Given the description of an element on the screen output the (x, y) to click on. 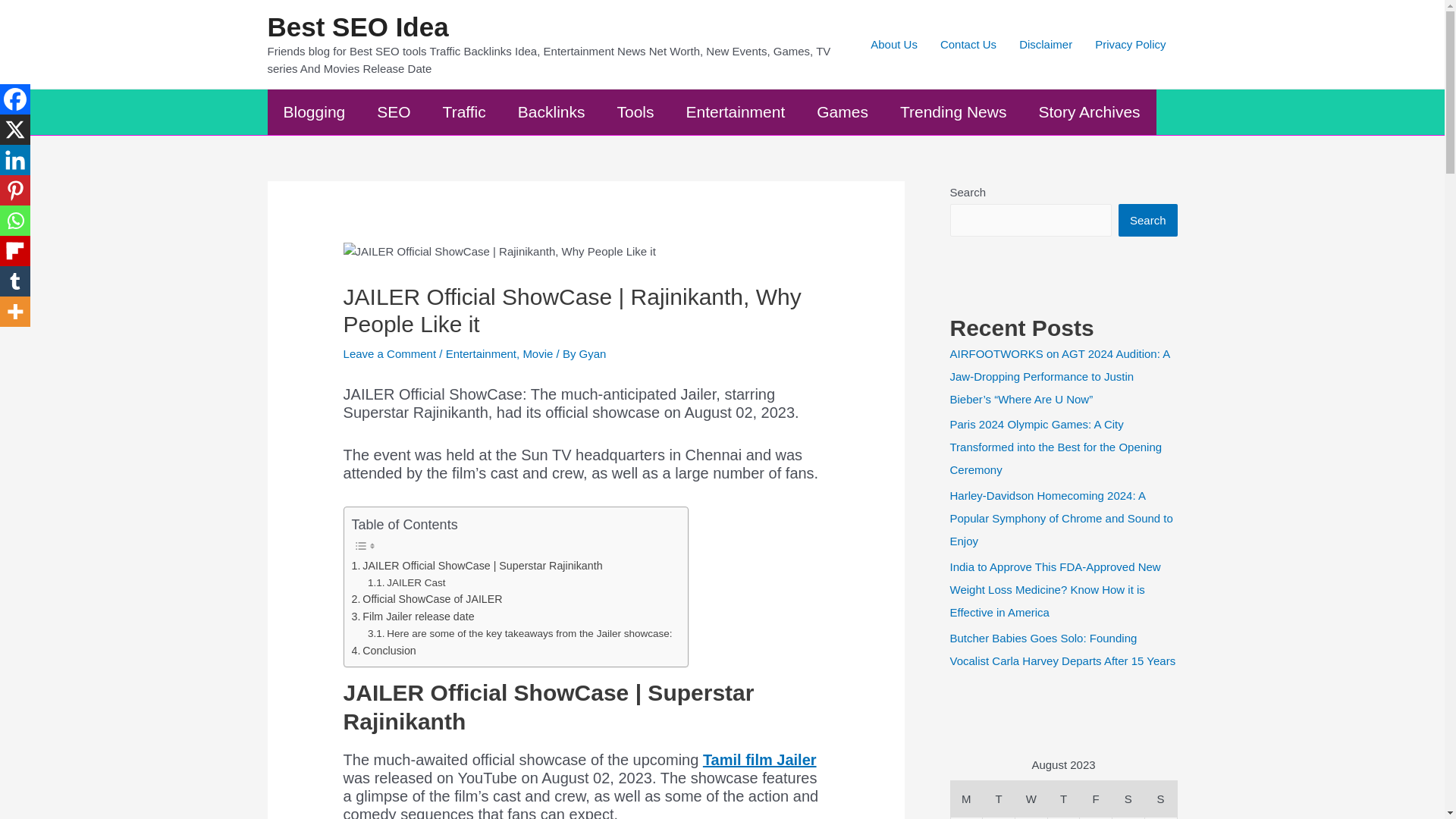
Here are some of the key takeaways from the Jailer showcase: (520, 633)
Film Jailer release date (413, 616)
Tamil film Jailer (759, 759)
Official ShowCase of JAILER (427, 599)
Movie (537, 353)
Entertainment (735, 112)
Conclusion (384, 651)
Leave a Comment (389, 353)
Disclaimer (1045, 44)
Privacy Policy (1129, 44)
View all posts by Gyan (593, 353)
SEO (393, 112)
Here are some of the key takeaways from the Jailer showcase: (520, 633)
JAILER Cast (406, 582)
Traffic (464, 112)
